Given the description of an element on the screen output the (x, y) to click on. 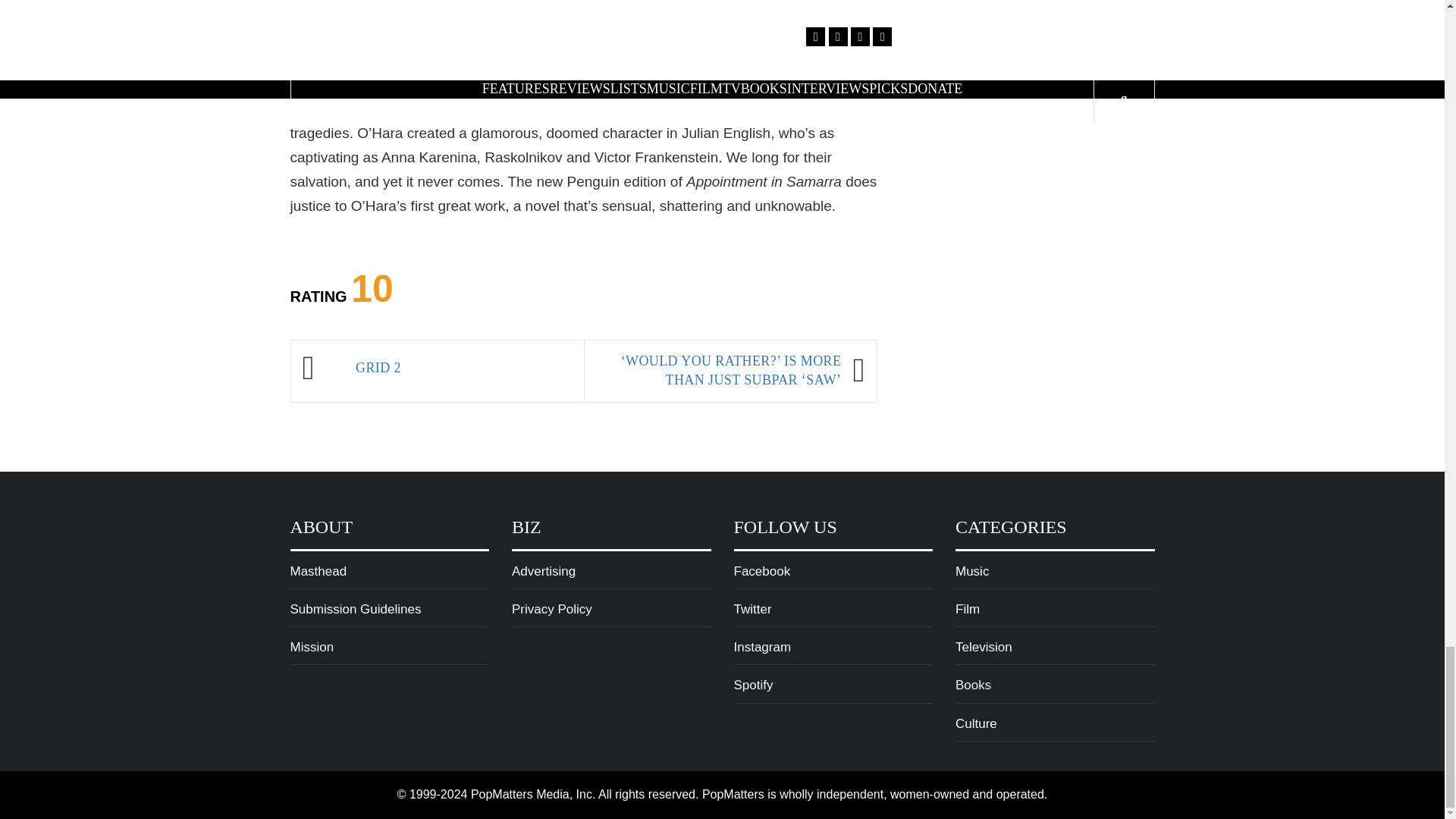
GRID 2 (461, 368)
